Given the description of an element on the screen output the (x, y) to click on. 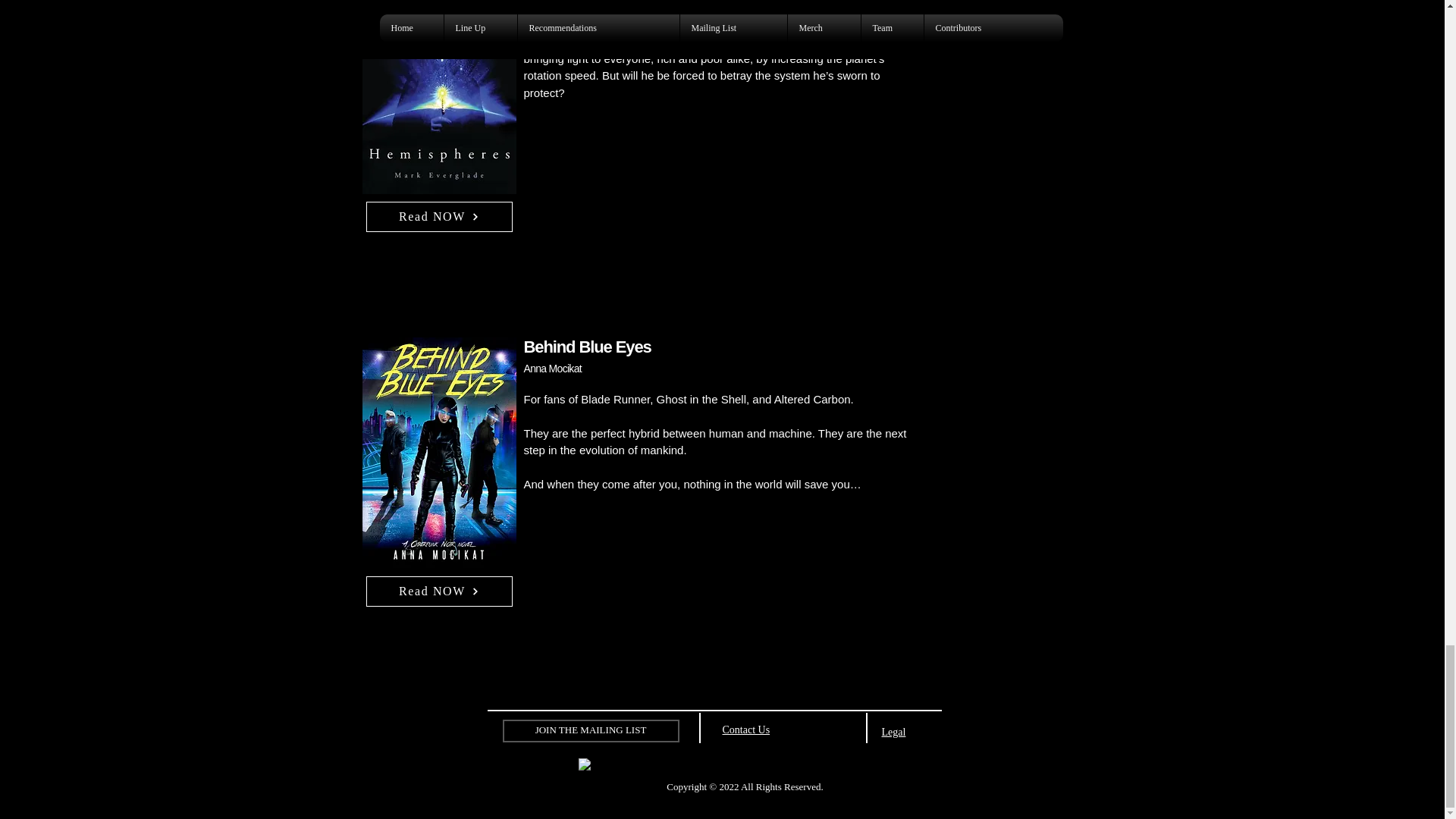
Contact Us (746, 728)
Read NOW (438, 216)
JOIN THE MAILING LIST (590, 730)
Legal (892, 731)
Read NOW (438, 591)
